Given the description of an element on the screen output the (x, y) to click on. 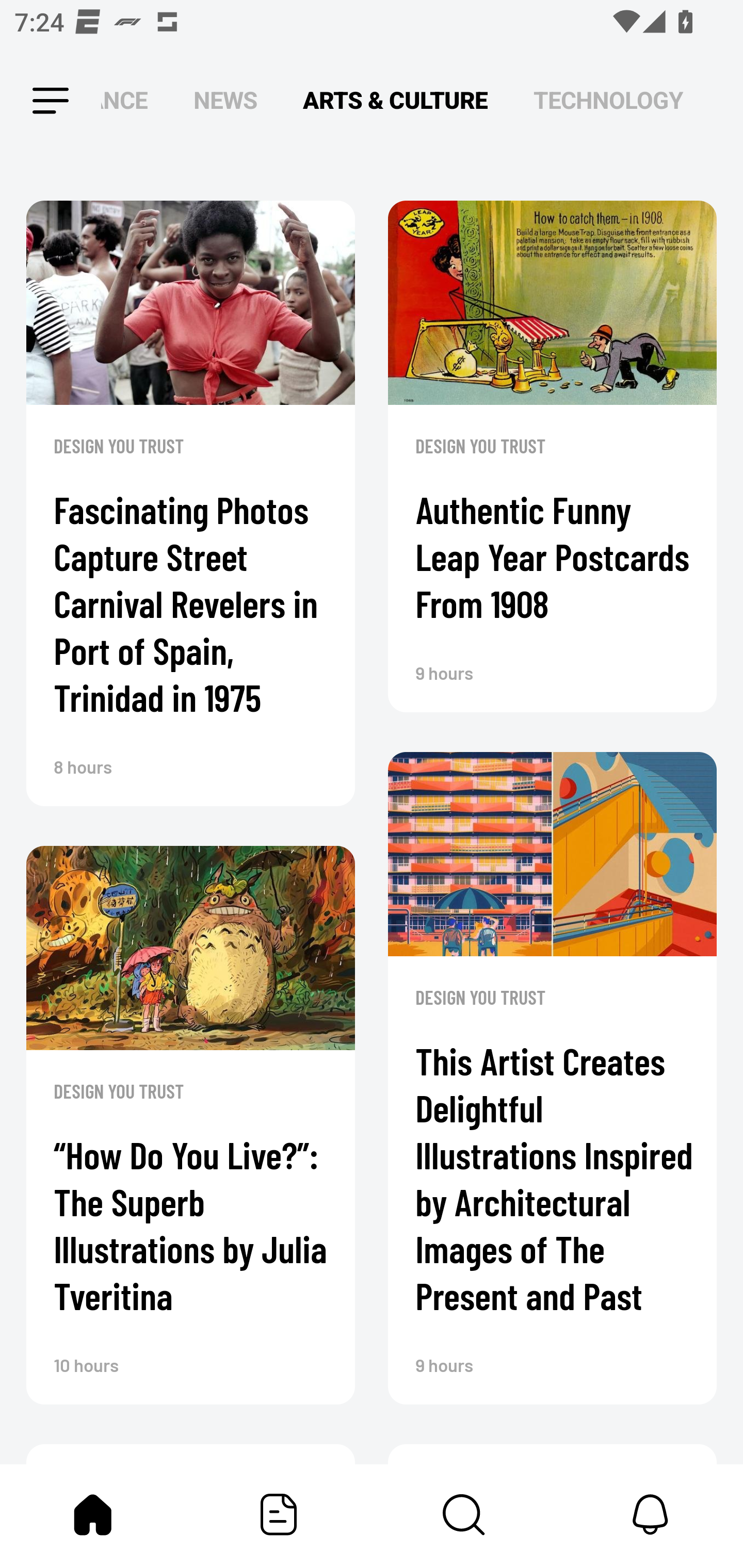
Leading Icon (32, 101)
BUSINESS & FINANCE (124, 100)
NEWS (225, 100)
TECHNOLOGY (607, 100)
Featured (278, 1514)
Content Store (464, 1514)
Notifications (650, 1514)
